Given the description of an element on the screen output the (x, y) to click on. 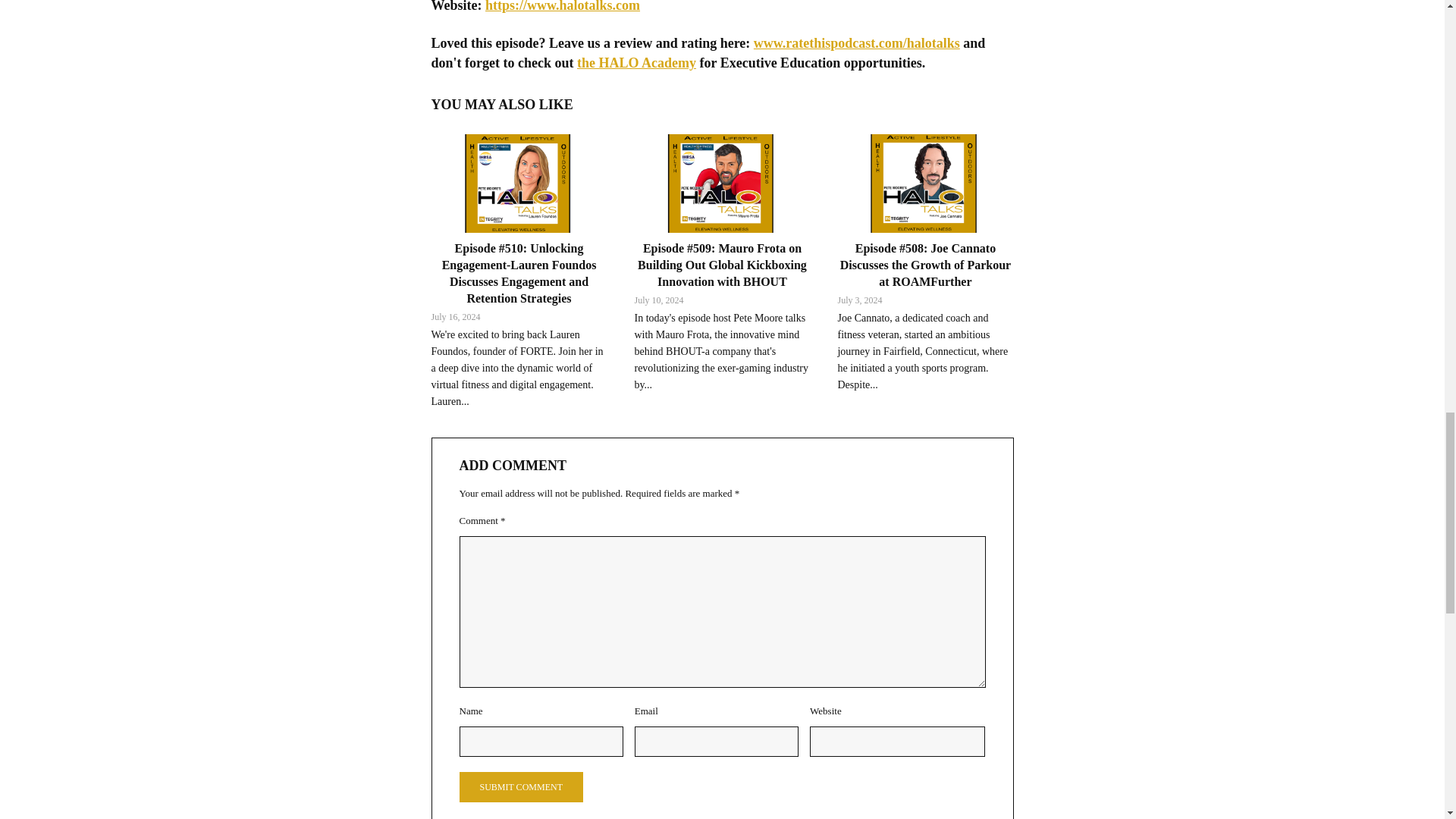
Submit Comment (521, 787)
